Given the description of an element on the screen output the (x, y) to click on. 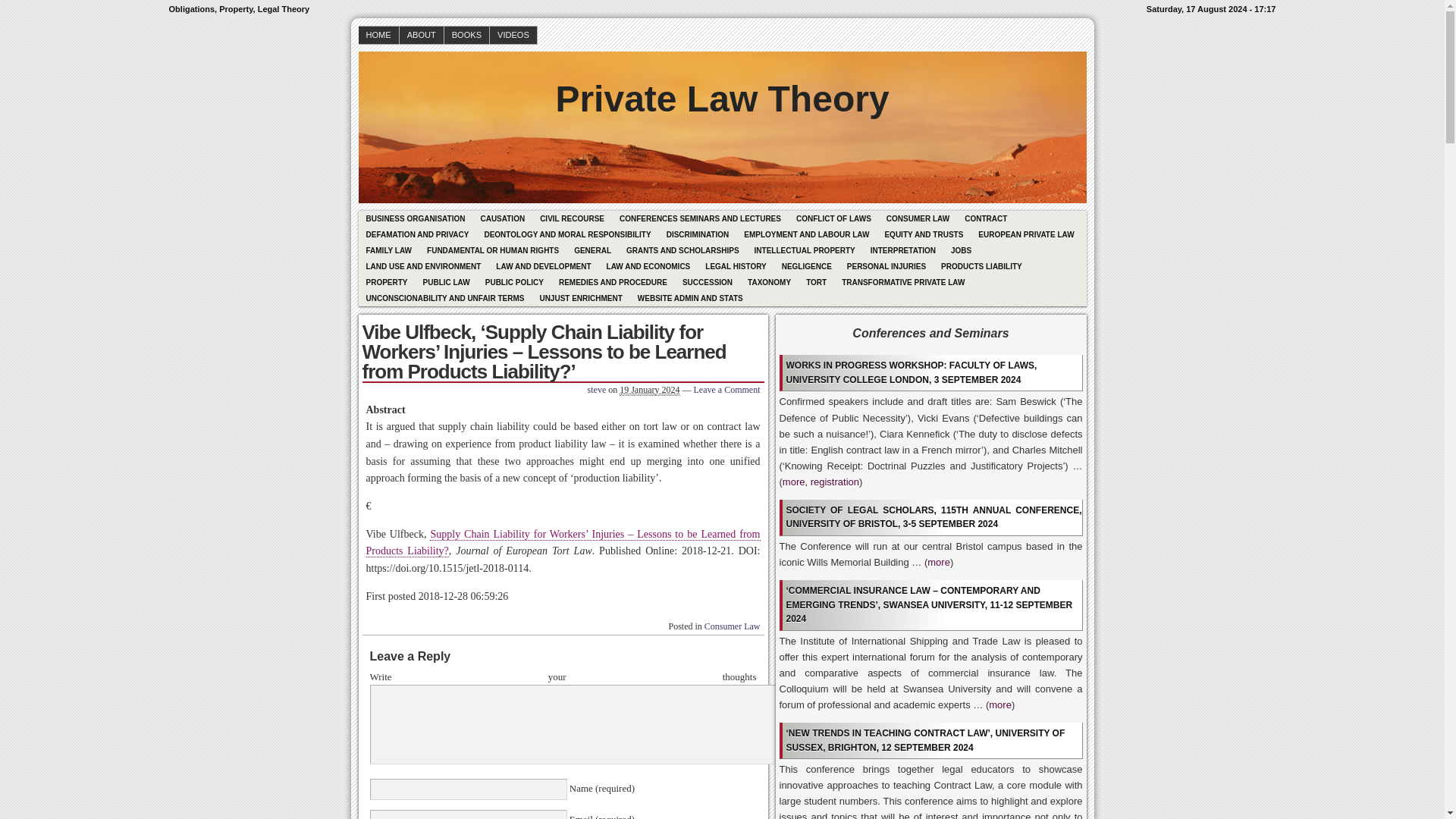
GENERAL (592, 250)
INTERPRETATION (903, 250)
NEGLIGENCE (807, 266)
ABOUT (421, 34)
EQUITY AND TRUSTS (923, 234)
Obligations, Property, Legal Theory (721, 88)
HOME (378, 34)
PERSONAL INJURIES (886, 266)
LAND USE AND ENVIRONMENT (422, 266)
PRODUCTS LIABILITY (981, 266)
